Given the description of an element on the screen output the (x, y) to click on. 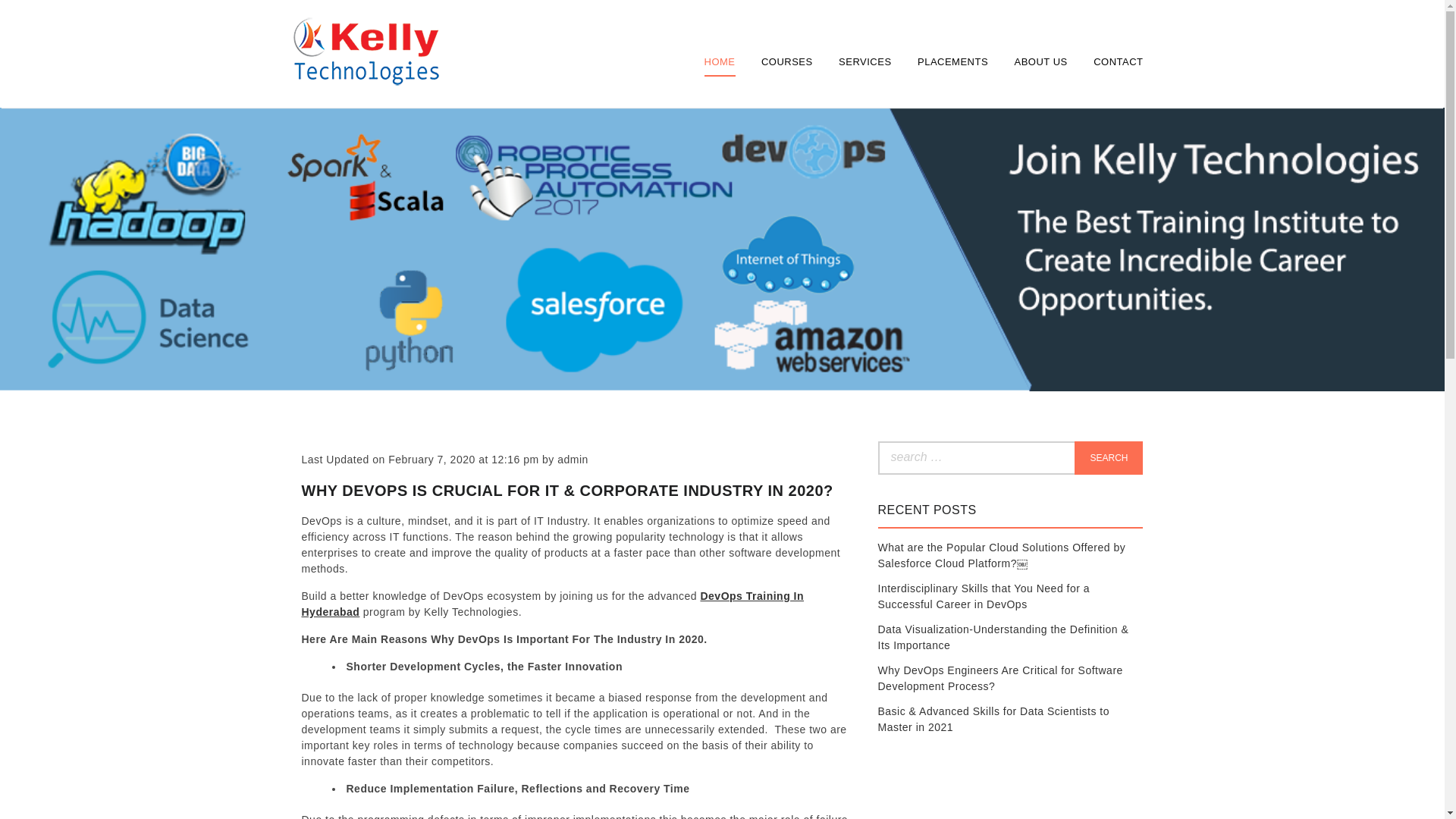
Search (1108, 458)
Search (1108, 458)
PLACEMENTS (952, 61)
BLOG KELLY TECHNOLOGIES (364, 123)
DevOps Training In Hyderabad (553, 603)
Search (1108, 458)
